Given the description of an element on the screen output the (x, y) to click on. 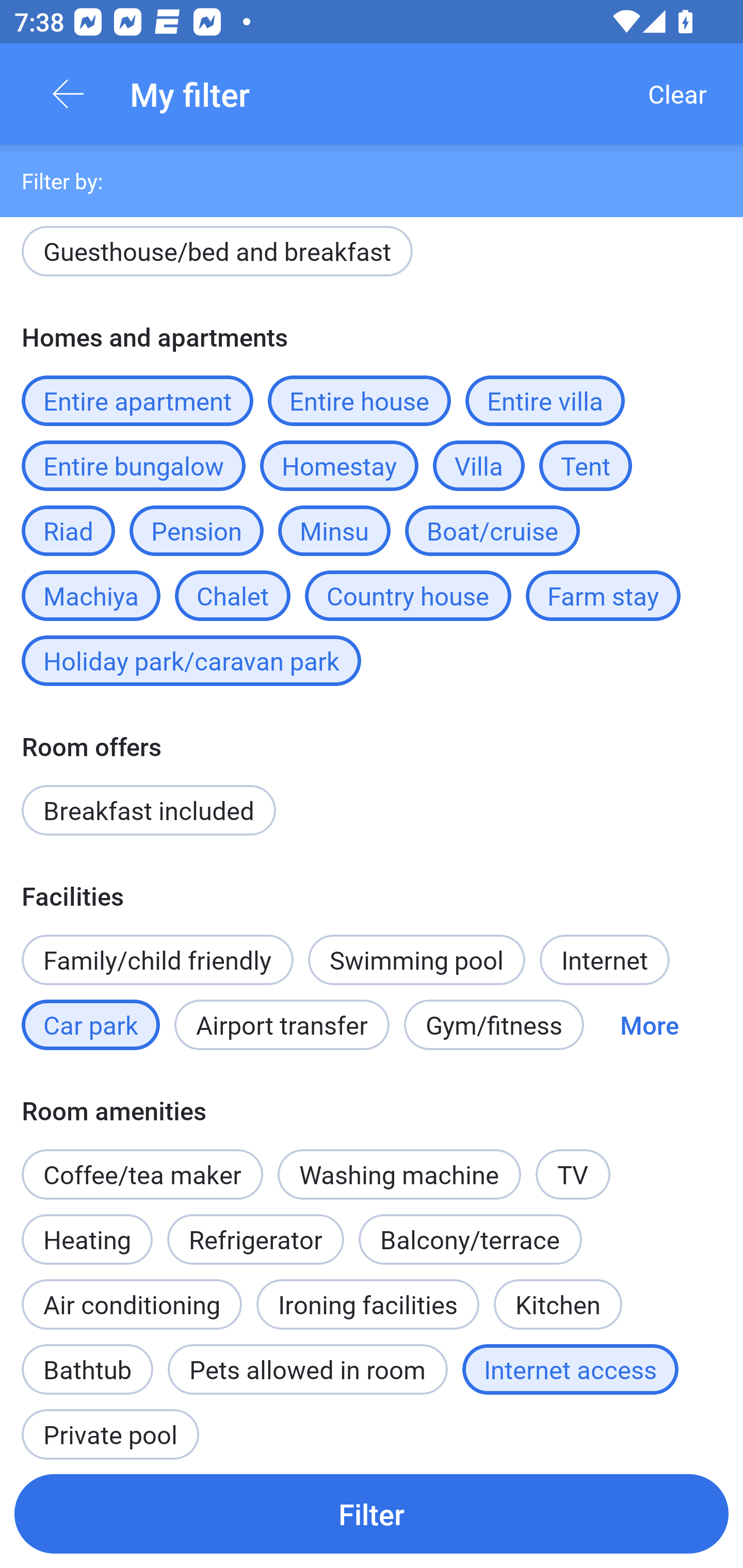
Clear (676, 93)
Guesthouse/bed and breakfast (217, 255)
Breakfast included (148, 809)
Family/child friendly (157, 960)
Swimming pool (416, 960)
Internet (604, 960)
Airport transfer (281, 1024)
Gym/fitness (493, 1024)
More (649, 1024)
Coffee/tea maker (142, 1174)
Washing machine (398, 1174)
TV (572, 1174)
Heating (87, 1228)
Refrigerator (255, 1239)
Balcony/terrace (469, 1239)
Air conditioning (131, 1304)
Ironing facilities (367, 1304)
Kitchen (558, 1293)
Bathtub (87, 1358)
Pets allowed in room (307, 1369)
Private pool (110, 1424)
Filter (371, 1513)
